Given the description of an element on the screen output the (x, y) to click on. 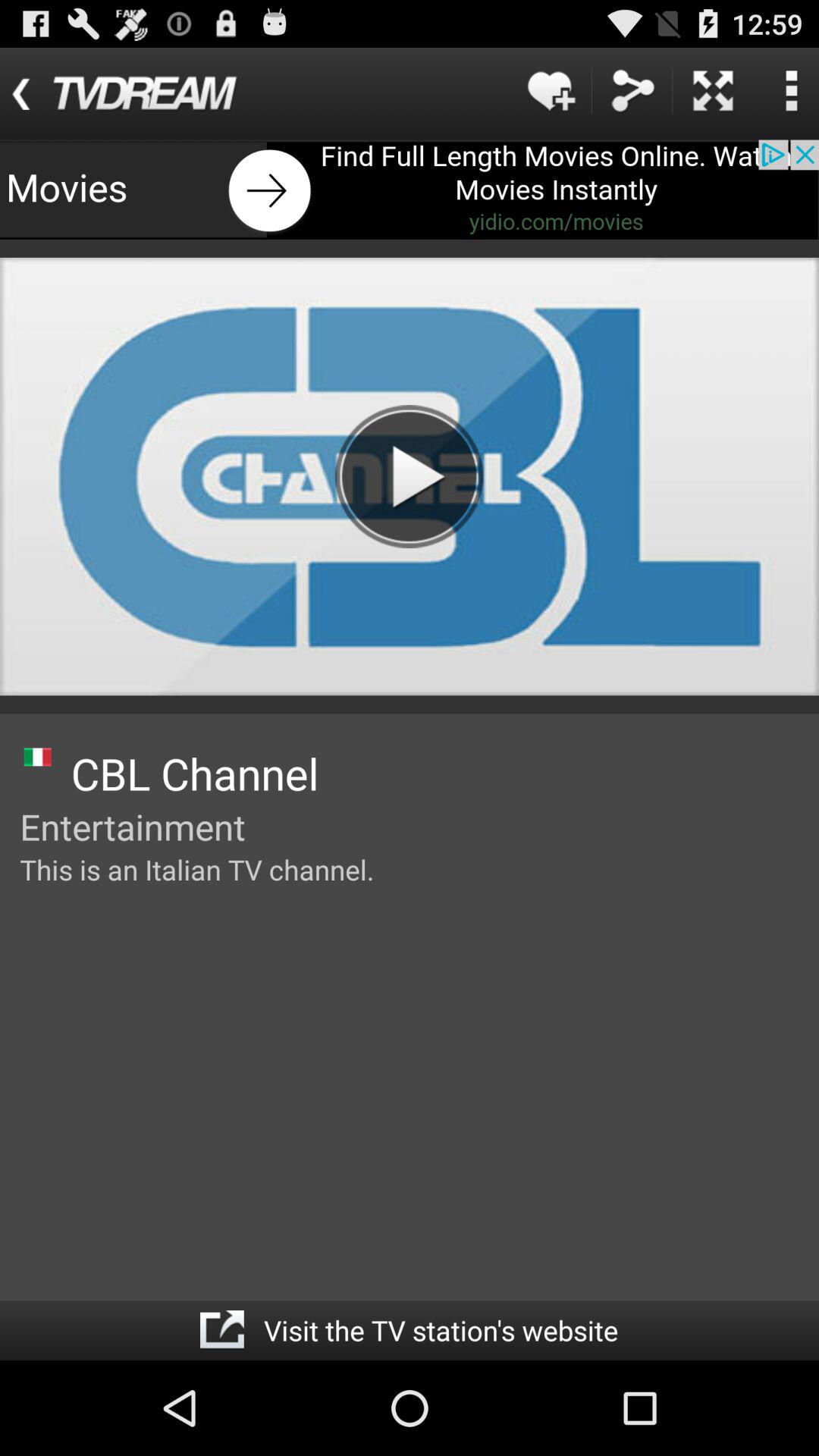
movies find full lenth movies online movies instantly (409, 189)
